Given the description of an element on the screen output the (x, y) to click on. 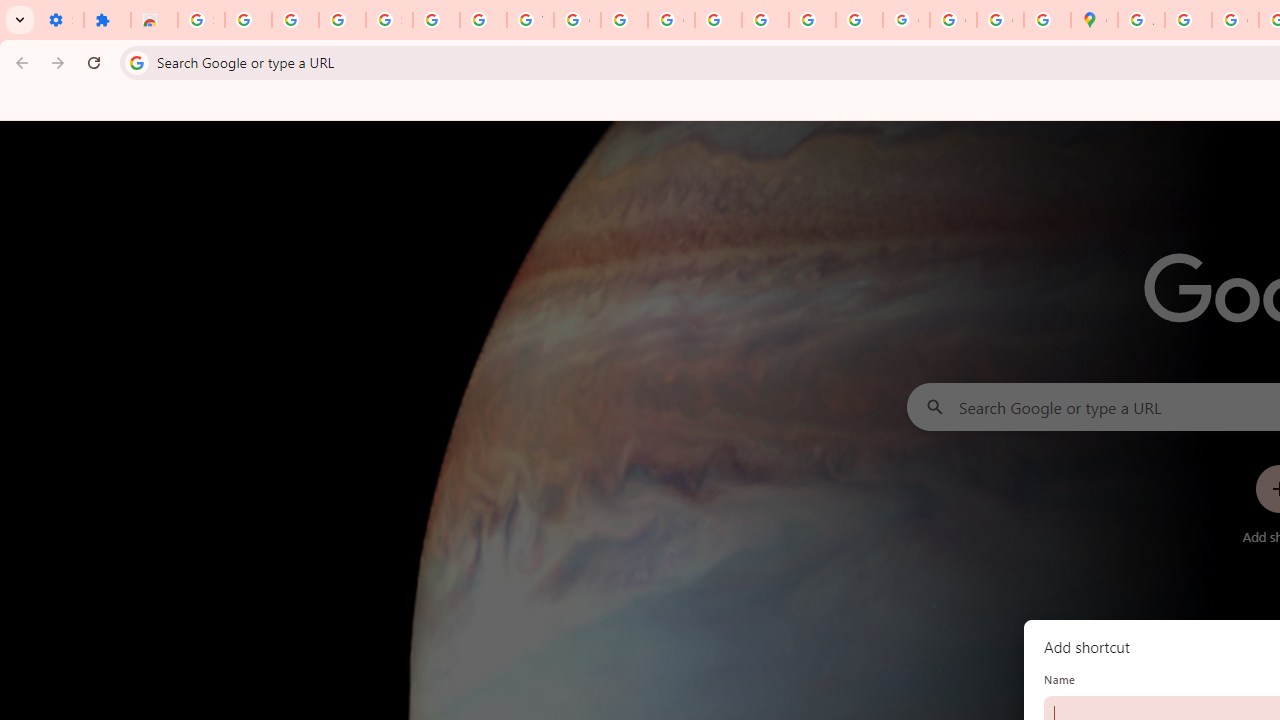
Extensions (107, 20)
https://scholar.google.com/ (623, 20)
Google Maps (1094, 20)
Sign in - Google Accounts (389, 20)
Learn how to find your photos - Google Photos Help (294, 20)
